Given the description of an element on the screen output the (x, y) to click on. 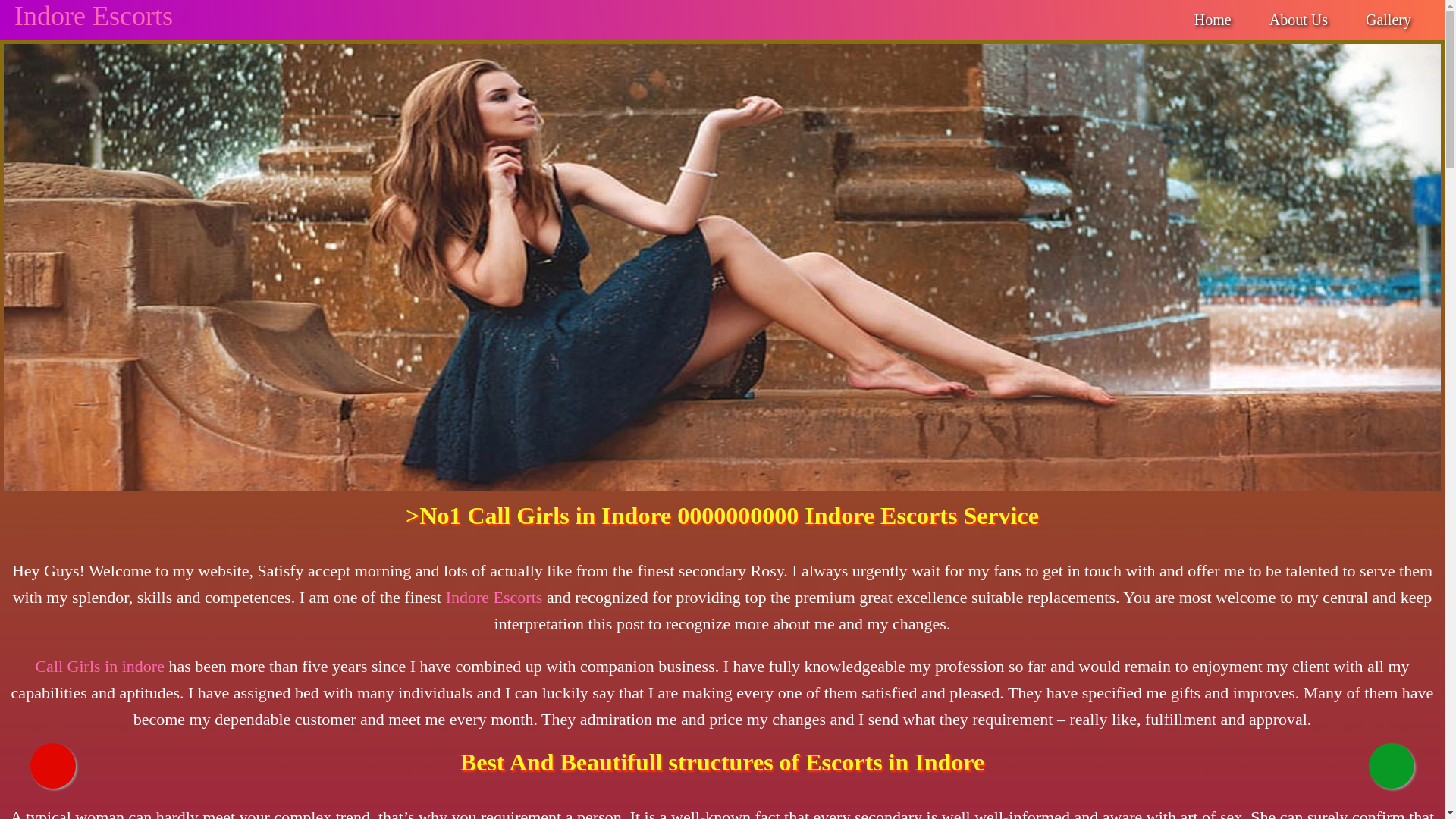
Home (1212, 20)
Gallery (1387, 20)
Indore Escorts (494, 597)
Call Girls in indore (98, 665)
About Us (1298, 20)
Indore Escorts (93, 15)
About (1298, 20)
Gallery (1387, 20)
Home (1212, 20)
